Given the description of an element on the screen output the (x, y) to click on. 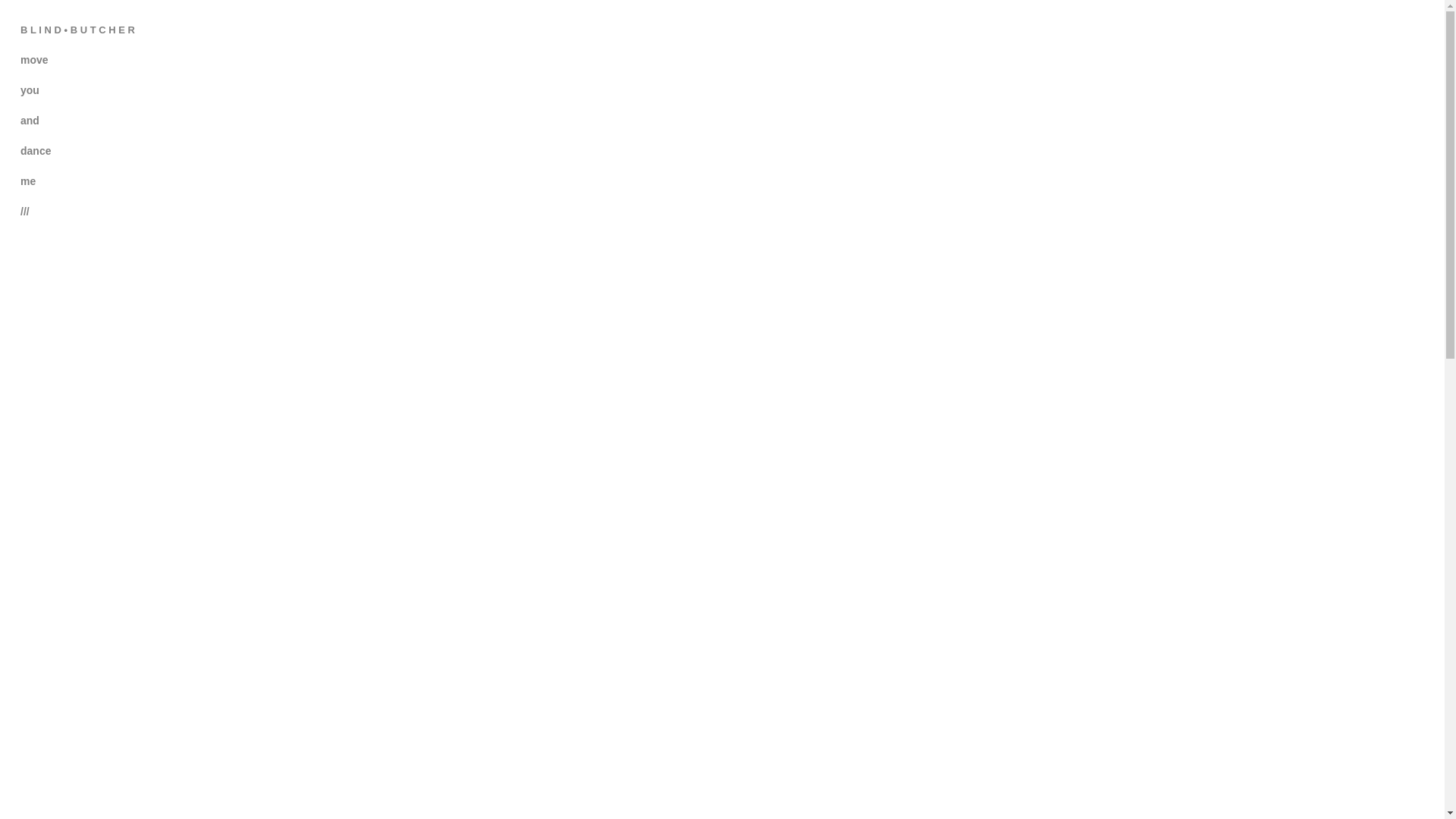
dance Element type: text (35, 150)
/// Element type: text (24, 211)
you Element type: text (29, 90)
and Element type: text (29, 120)
move Element type: text (34, 59)
me Element type: text (27, 181)
